Given the description of an element on the screen output the (x, y) to click on. 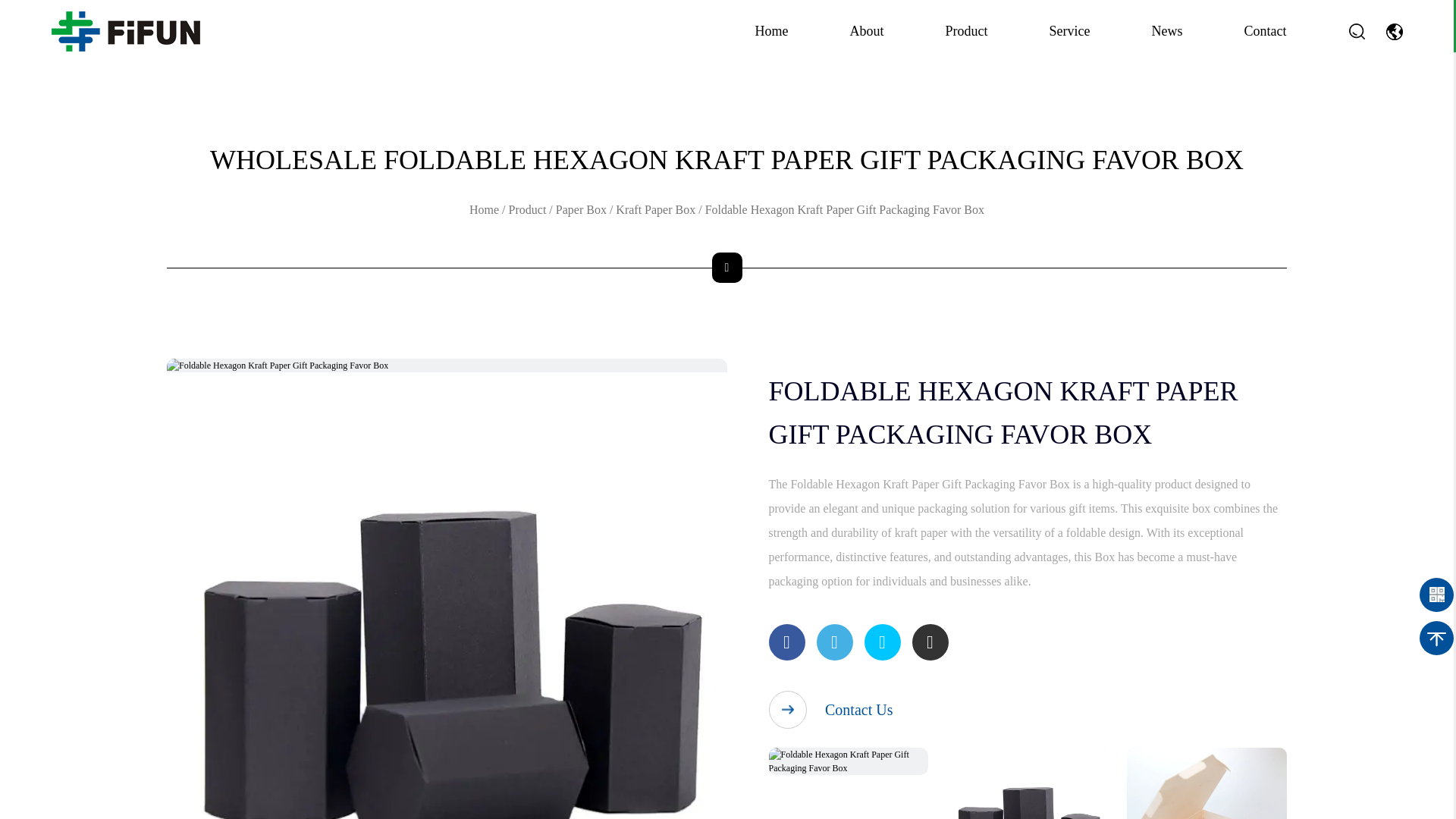
Product (966, 31)
Contact (1264, 31)
About (866, 31)
Home (772, 31)
Service (1069, 31)
News (1166, 31)
